Given the description of an element on the screen output the (x, y) to click on. 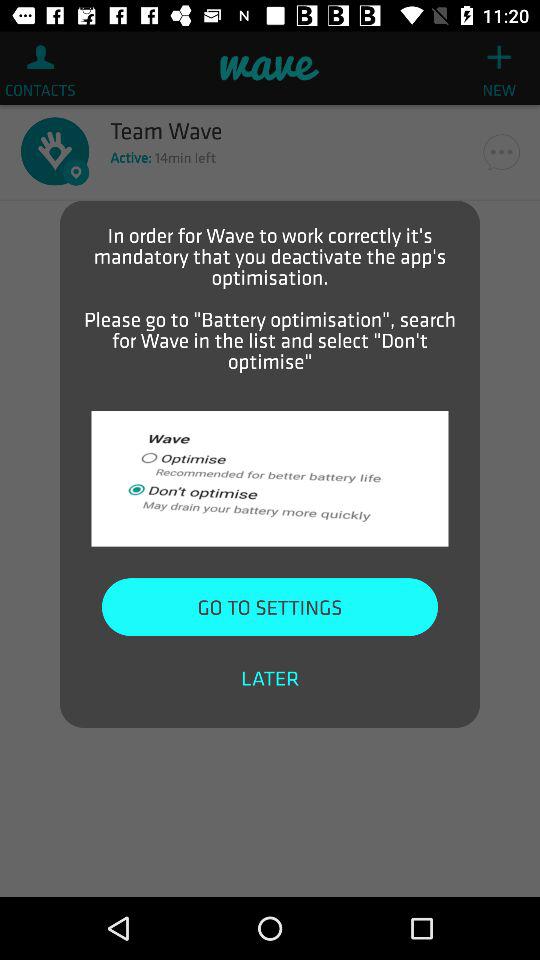
choose later icon (269, 677)
